Given the description of an element on the screen output the (x, y) to click on. 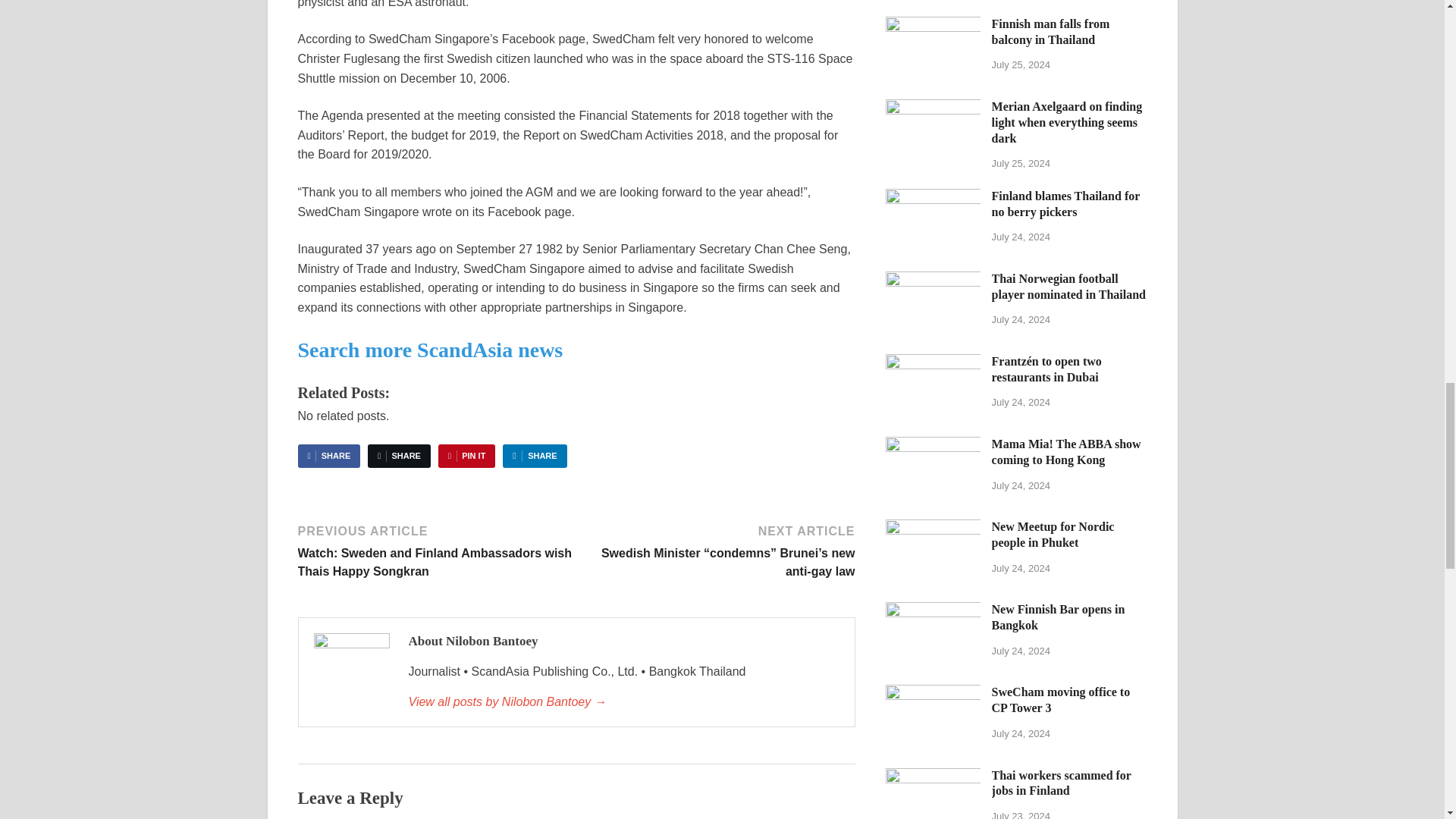
SweCham moving office to CP Tower 3 (932, 693)
Finland blames Thailand for no berry pickers (932, 196)
Mama Mia! The ABBA show coming to Hong Kong (932, 445)
Finnish man falls from balcony in Thailand (932, 24)
Nilobon Bantoey (622, 701)
New Meetup for Nordic people in Phuket (932, 527)
New Finnish Bar opens in Bangkok (932, 610)
Thai workers scammed for jobs in Finland (932, 776)
Thai Norwegian football player nominated in Thailand (932, 279)
Merian Axelgaard on finding light when everything seems dark (932, 107)
